Given the description of an element on the screen output the (x, y) to click on. 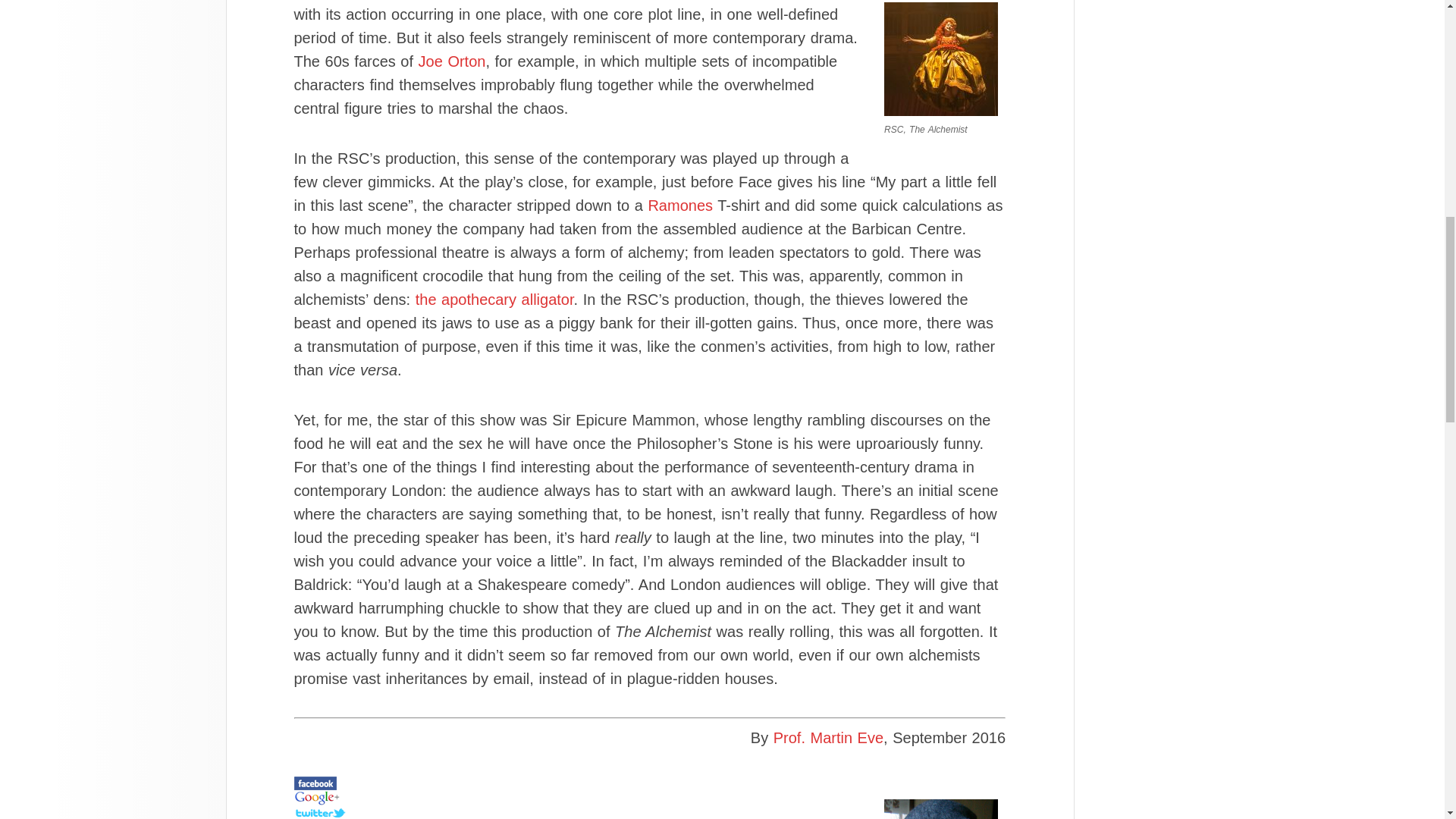
Martin Eve on Ben Jonson, The Alchemist at The Barbican (650, 812)
Martin Eve on Ben Jonson, The Alchemist at The Barbican (650, 783)
Ramones (680, 205)
Martin Eve on Ben Jonson, The Alchemist at The Barbican (650, 797)
Joe Orton (452, 61)
the apothecary alligator (493, 299)
Prof. Martin Eve (828, 737)
